Given the description of an element on the screen output the (x, y) to click on. 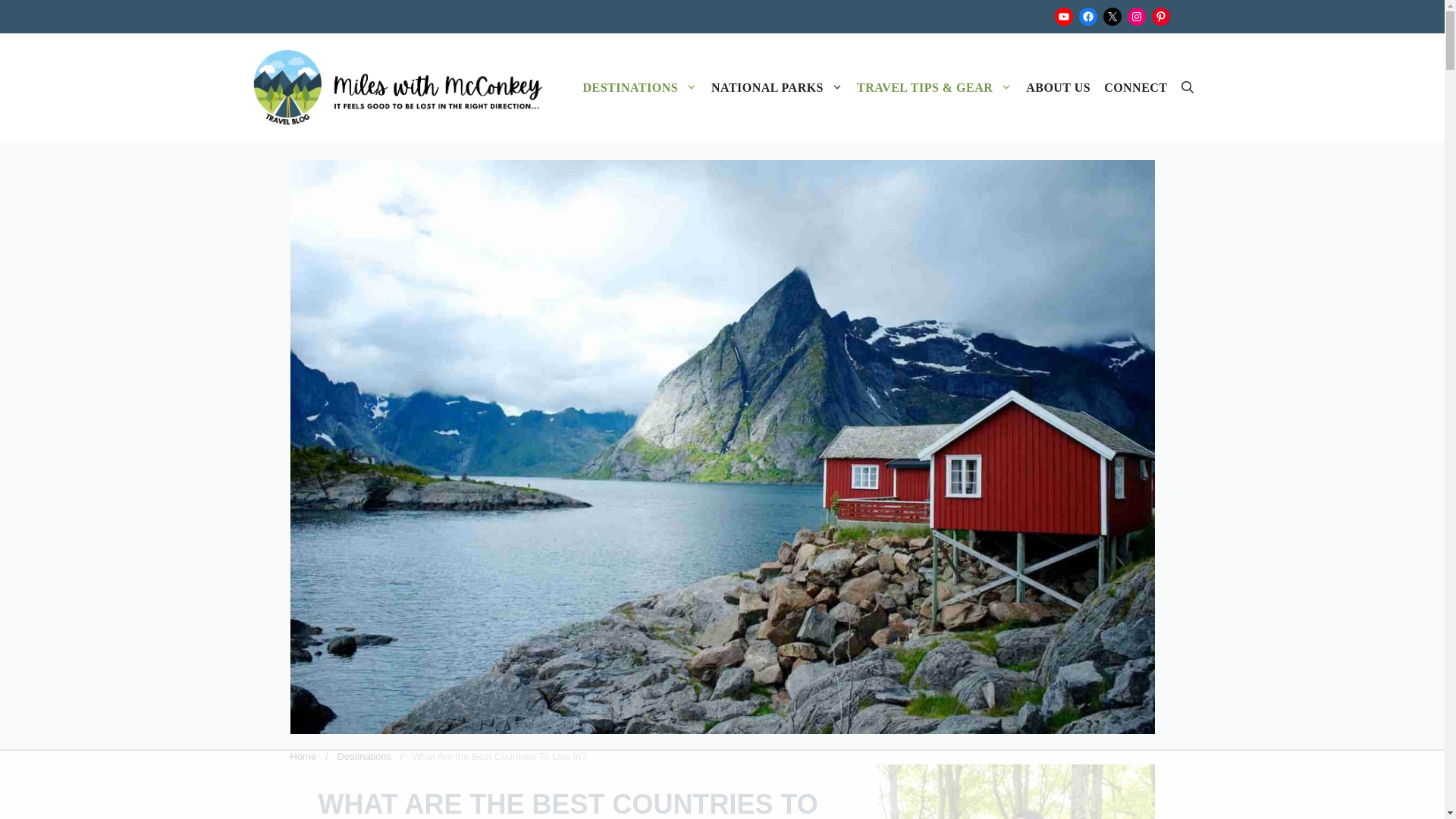
DESTINATIONS (640, 87)
YouTube (1062, 16)
Pinterest (1160, 16)
Facebook (1087, 16)
X (1111, 16)
Instagram (1135, 16)
